Given the description of an element on the screen output the (x, y) to click on. 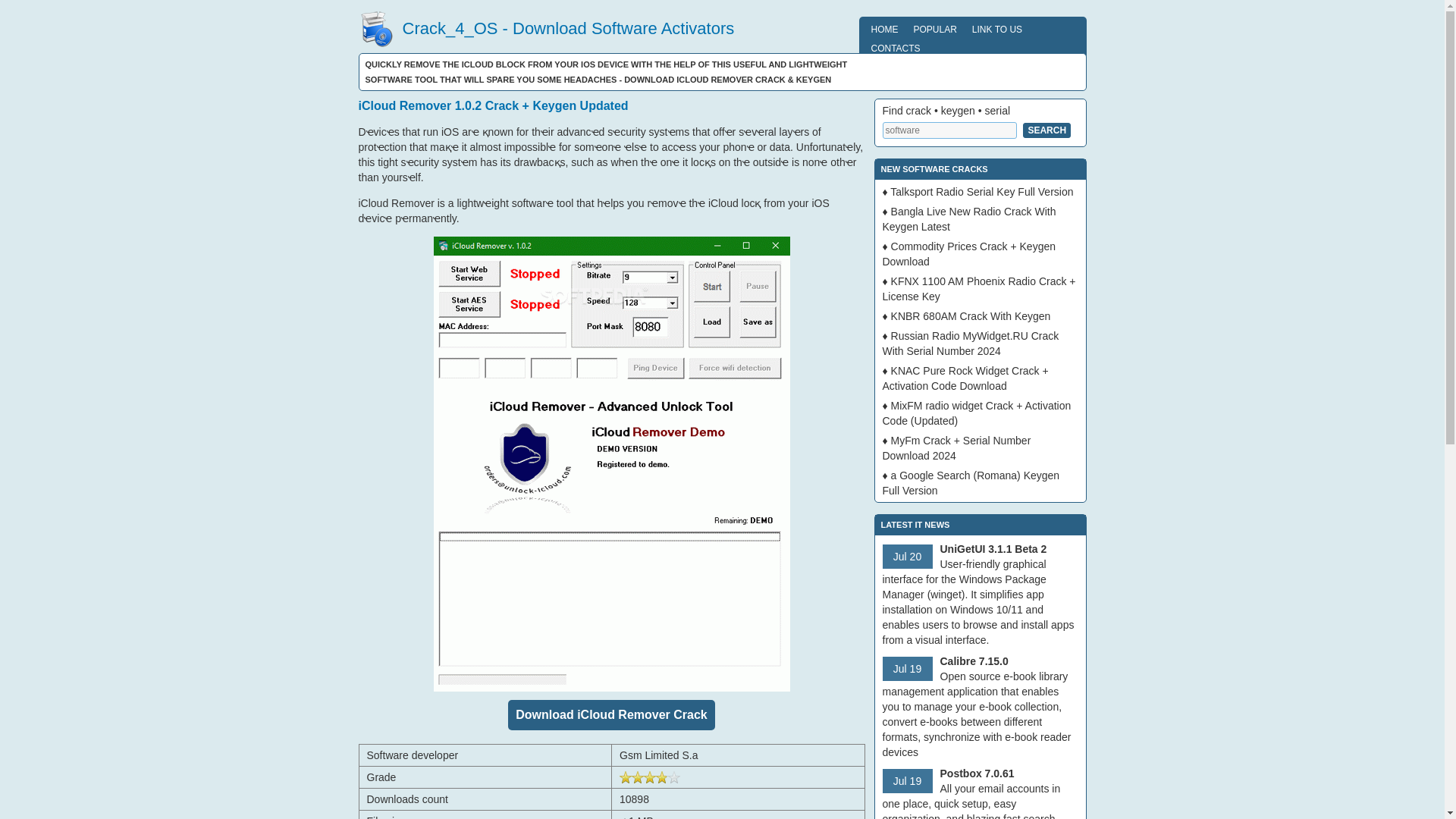
CONTACTS (895, 47)
Calibre 7.15.0 (974, 661)
Bangla Live New Radio Crack With Keygen Latest (969, 218)
Russian Radio MyWidget.RU Crack With Serial Number 2024 (970, 343)
UniGetUI 3.1.1 Beta 2 (993, 548)
HOME (884, 28)
Search (1046, 130)
KNBR 680AM Crack With Keygen (971, 316)
LINK TO US (996, 28)
POPULAR (934, 28)
Postbox 7.0.61 (977, 773)
Talksport Radio Serial Key Full Version (981, 191)
Search (1046, 130)
